Given the description of an element on the screen output the (x, y) to click on. 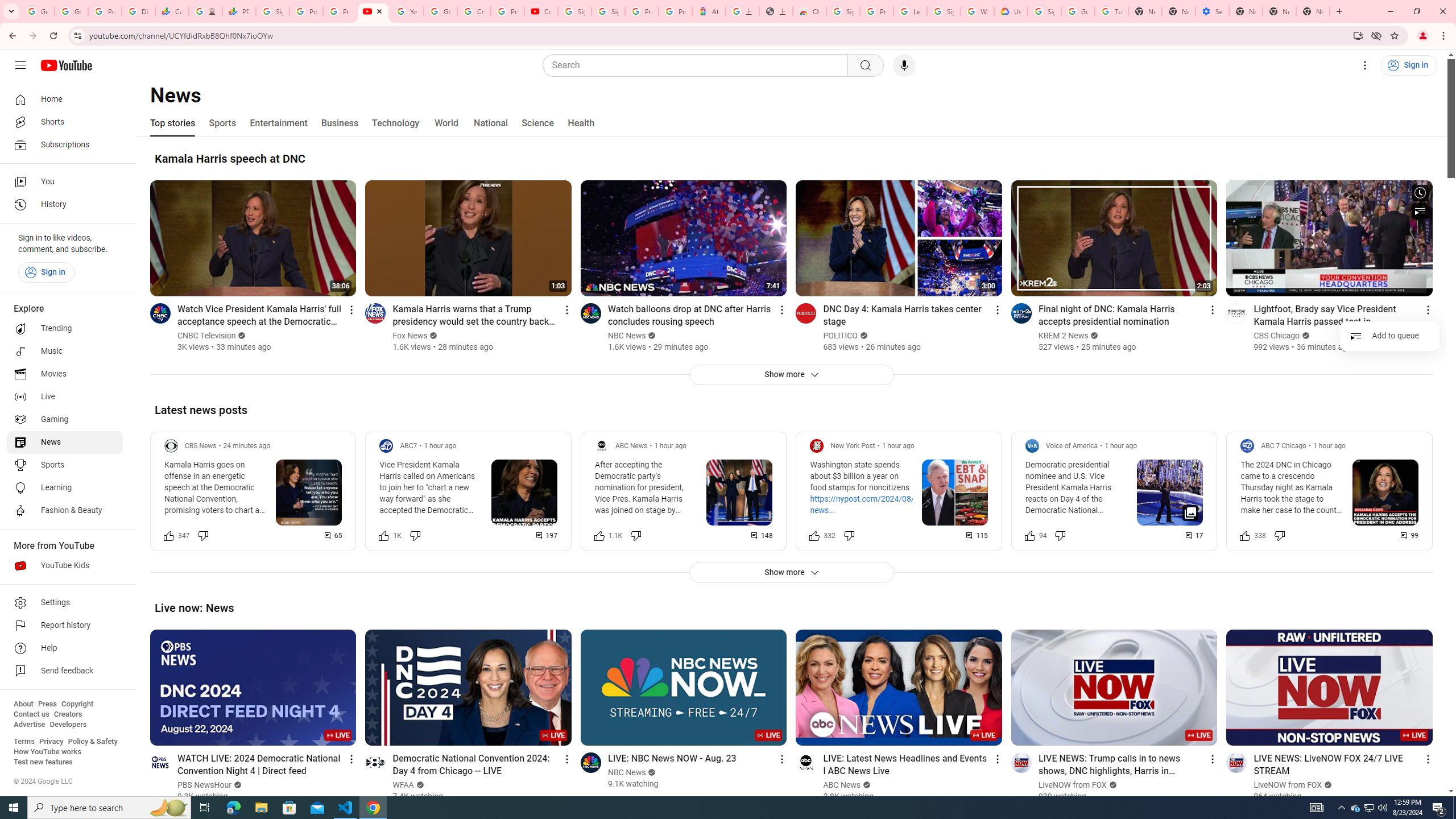
Voice of America (1071, 445)
Sign in - Google Accounts (1043, 11)
Creators (67, 714)
Policy & Safety (91, 741)
Google Account Help (1077, 11)
Settings - Addresses and more (1212, 11)
24 minutes ago (246, 445)
